Given the description of an element on the screen output the (x, y) to click on. 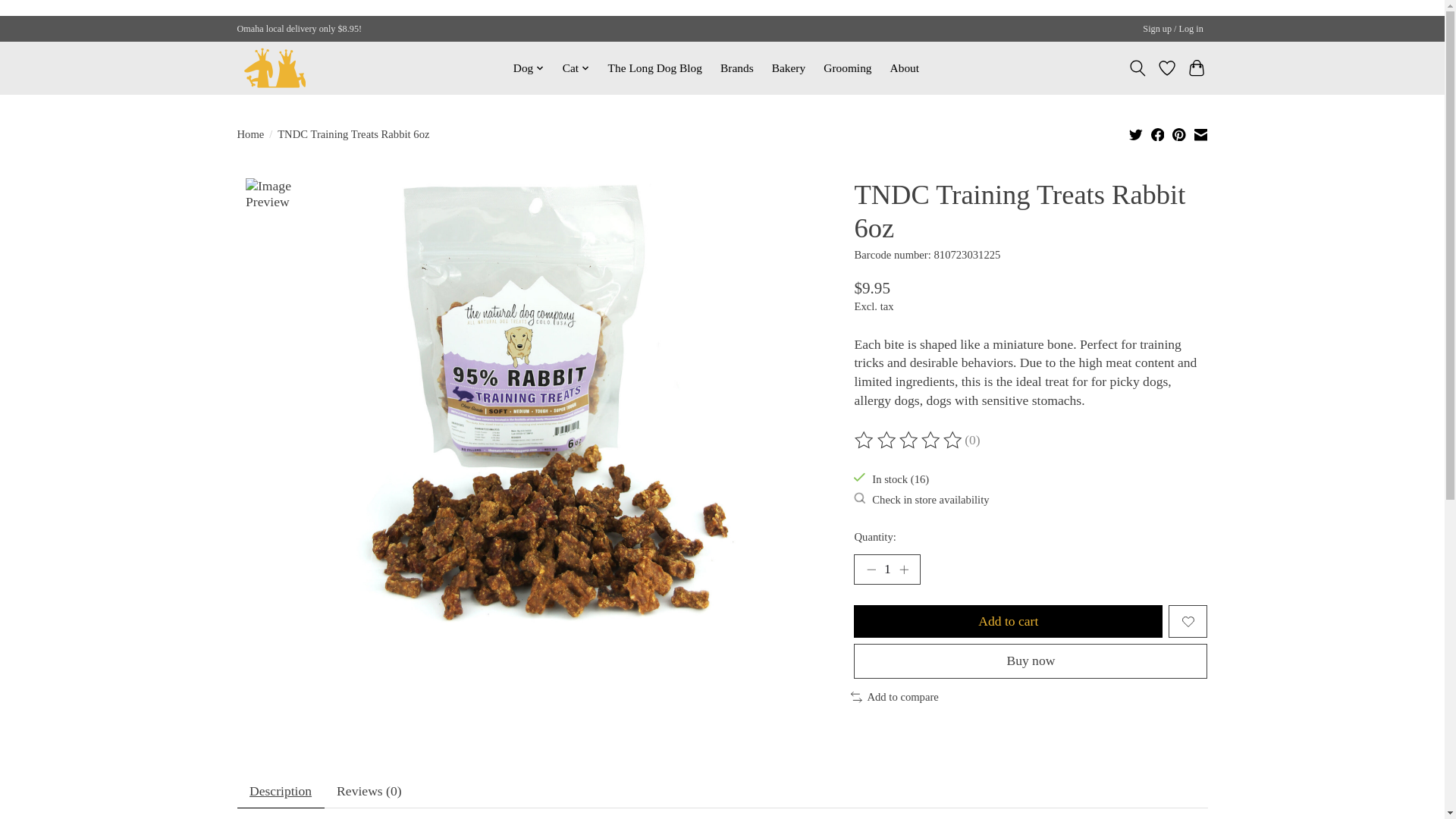
Long Dog Fat Cat (274, 67)
Share by Email (1200, 133)
Share on Facebook (1157, 136)
Grooming (847, 67)
Share on Twitter (1135, 133)
Share by Email (1200, 136)
My account (1173, 28)
Dog (529, 67)
Bakery (788, 67)
Add to cart (1007, 621)
